Given the description of an element on the screen output the (x, y) to click on. 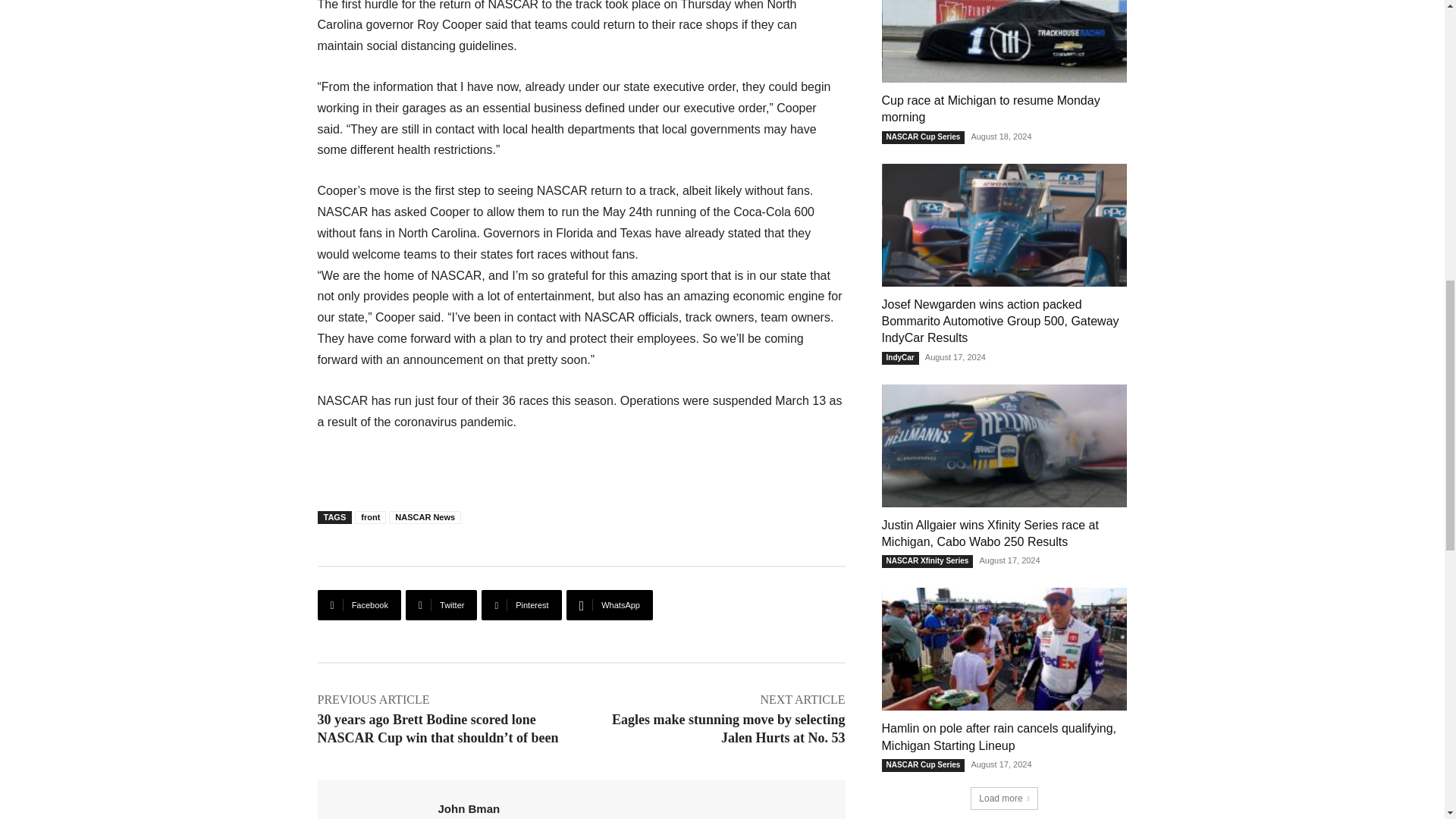
Pinterest (520, 604)
Facebook (358, 604)
WhatsApp (609, 604)
Twitter (441, 604)
